Given the description of an element on the screen output the (x, y) to click on. 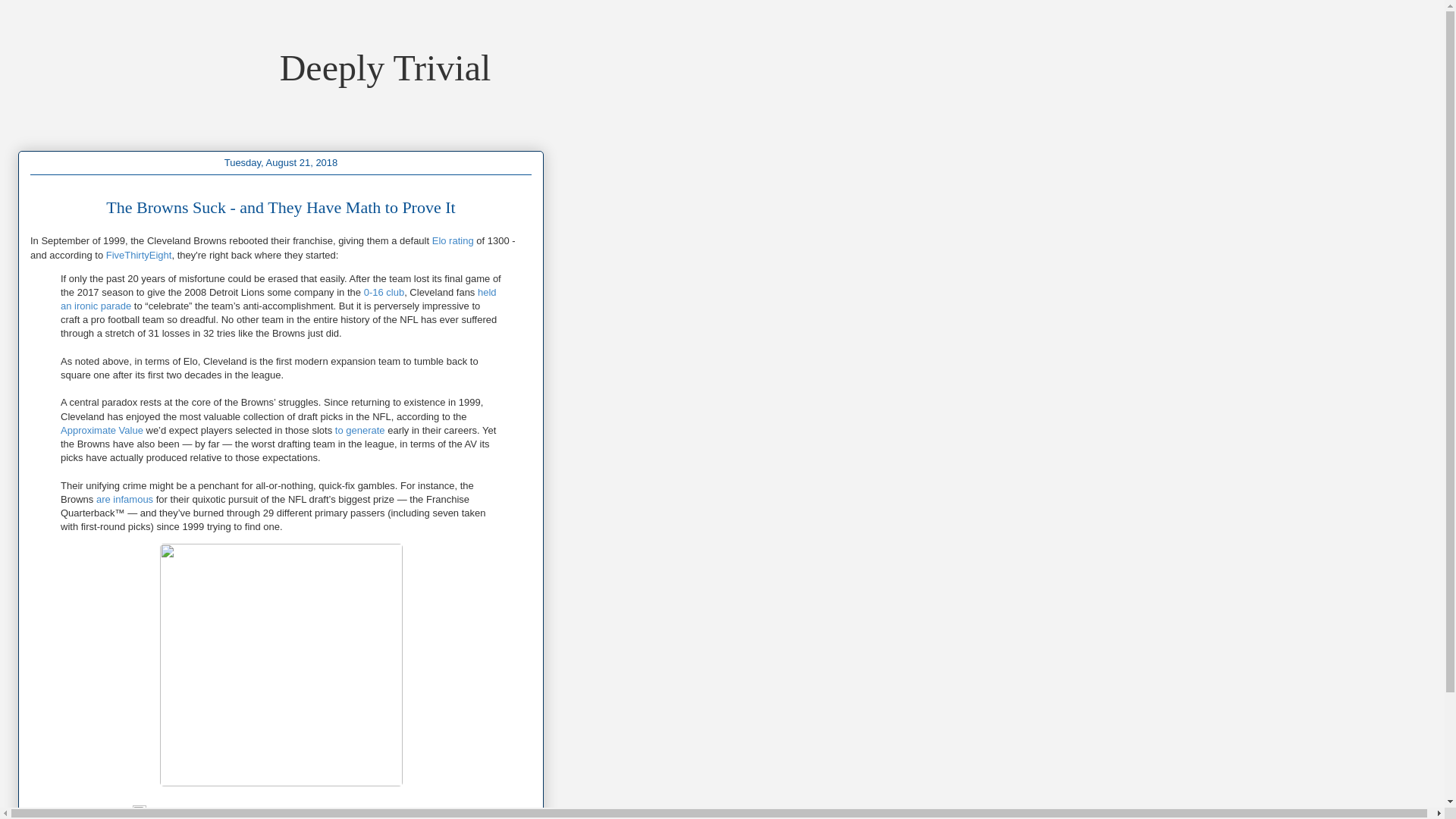
permanent link (95, 814)
Elo rating (453, 240)
to generate (359, 430)
Deeply Trivial (385, 67)
Email Post (124, 814)
FiveThirtyEight (138, 254)
0-16 club (384, 292)
are infamous (124, 499)
Edit Post (139, 814)
